Given the description of an element on the screen output the (x, y) to click on. 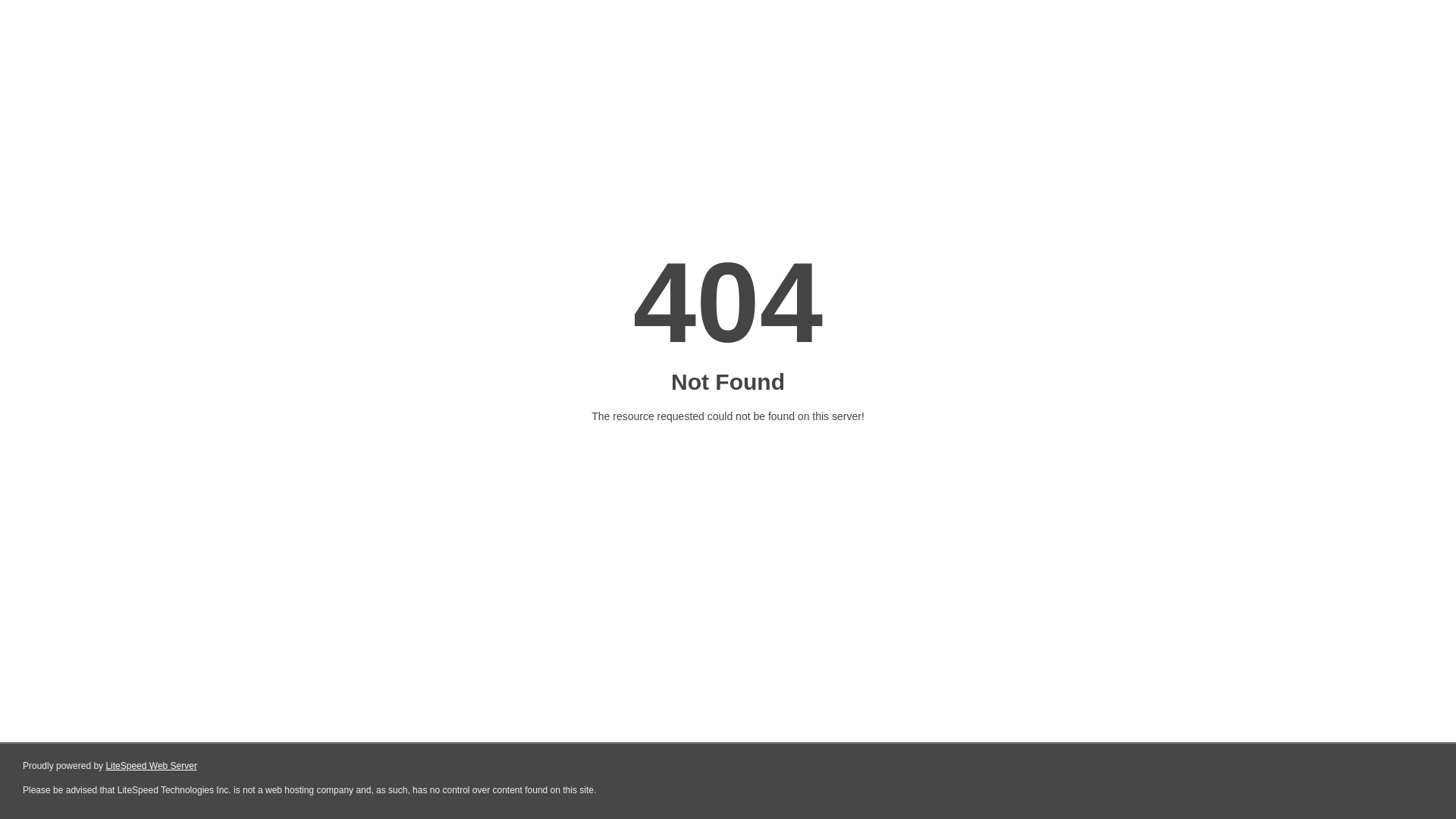
LiteSpeed Web Server Element type: text (151, 765)
